Given the description of an element on the screen output the (x, y) to click on. 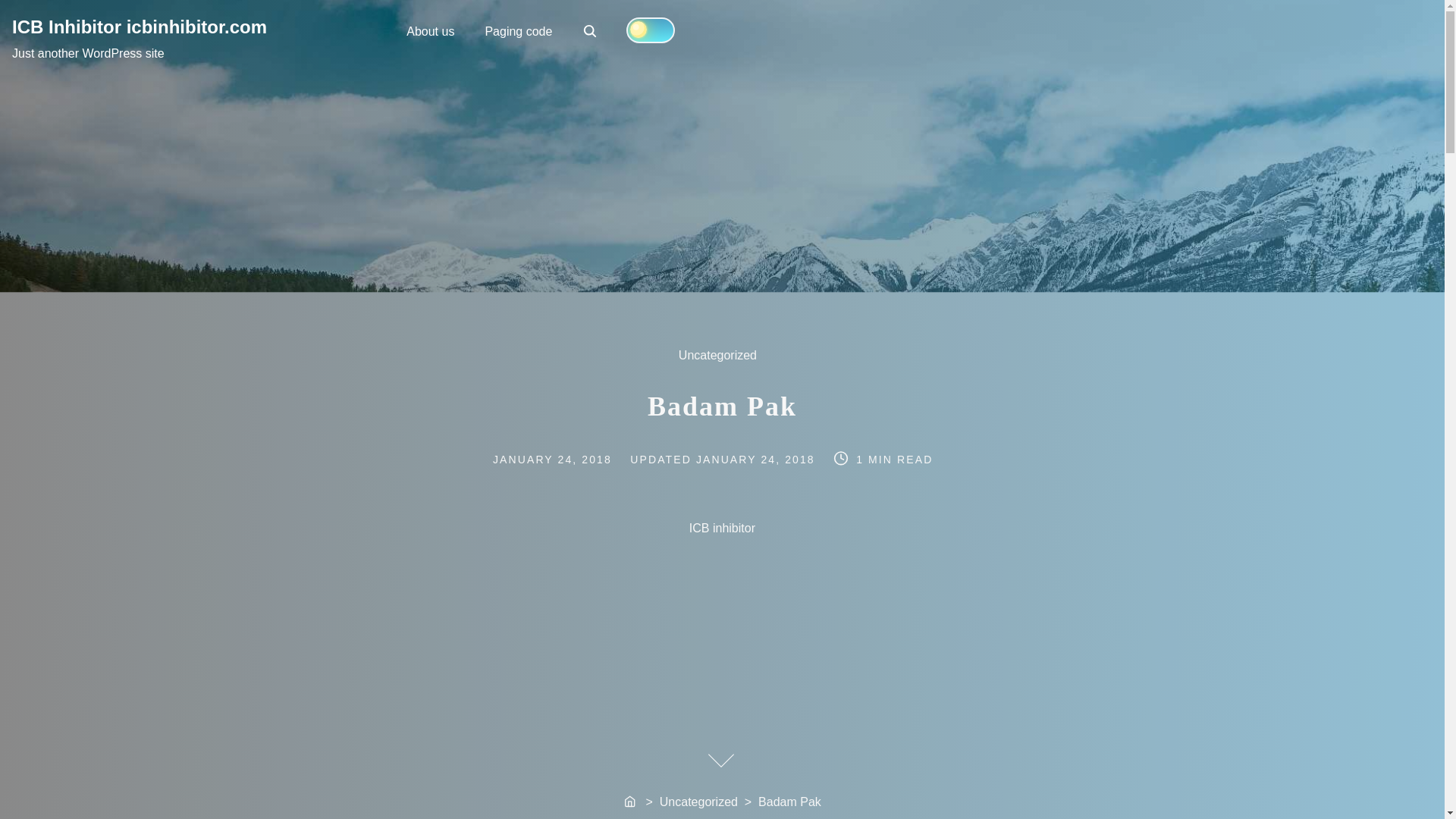
JANUARY 24, 2018 (571, 458)
About us (429, 30)
View all posts by ICB inhibitor (590, 31)
ICB Inhibitor icbinhibitor.com (918, 530)
ICB inhibitor (138, 26)
Paging code (920, 524)
Home (517, 30)
Uncategorized (631, 802)
JANUARY 24, 2018 (726, 363)
Search (757, 458)
